Given the description of an element on the screen output the (x, y) to click on. 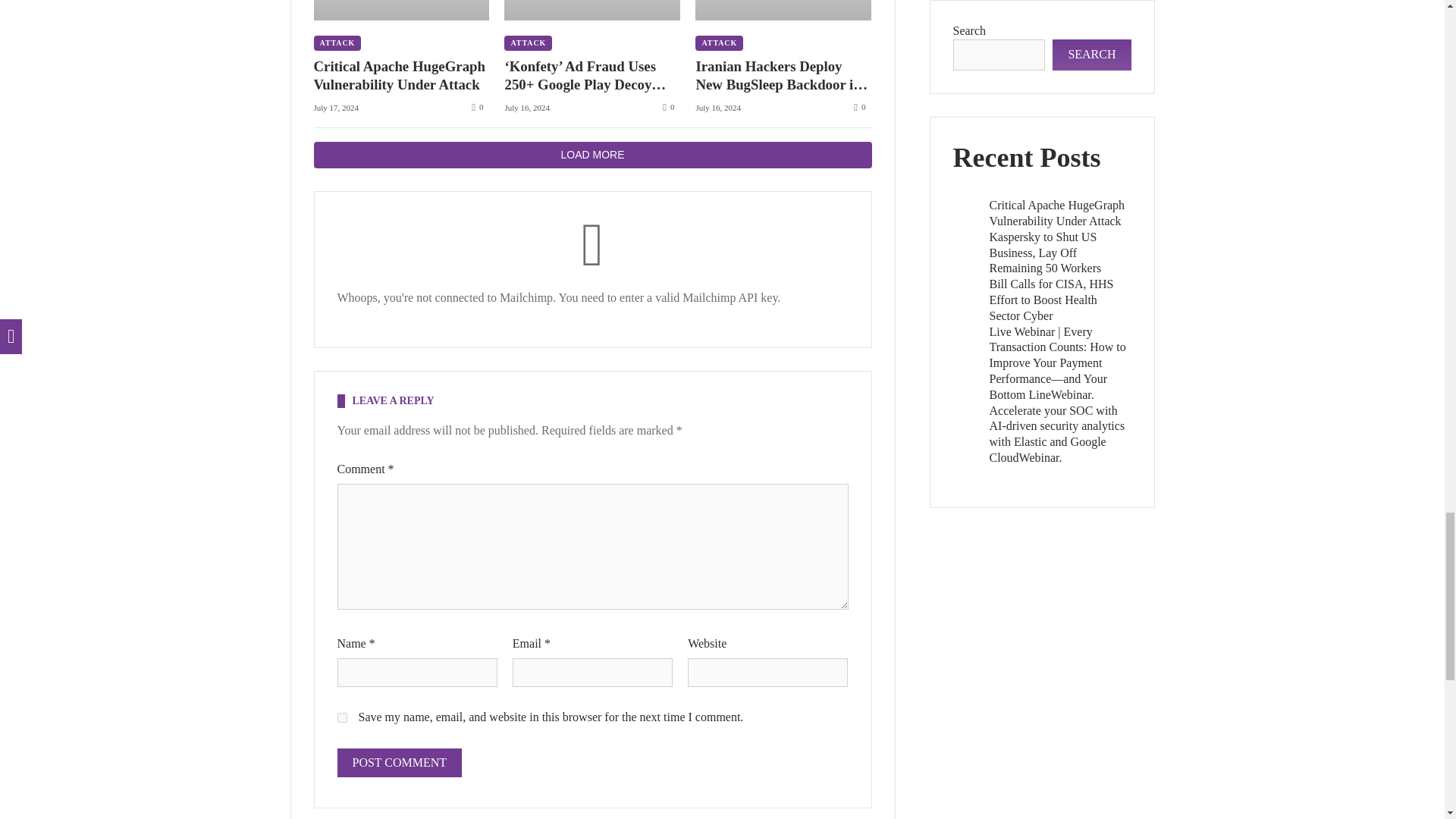
yes (341, 717)
Post Comment (398, 762)
